Given the description of an element on the screen output the (x, y) to click on. 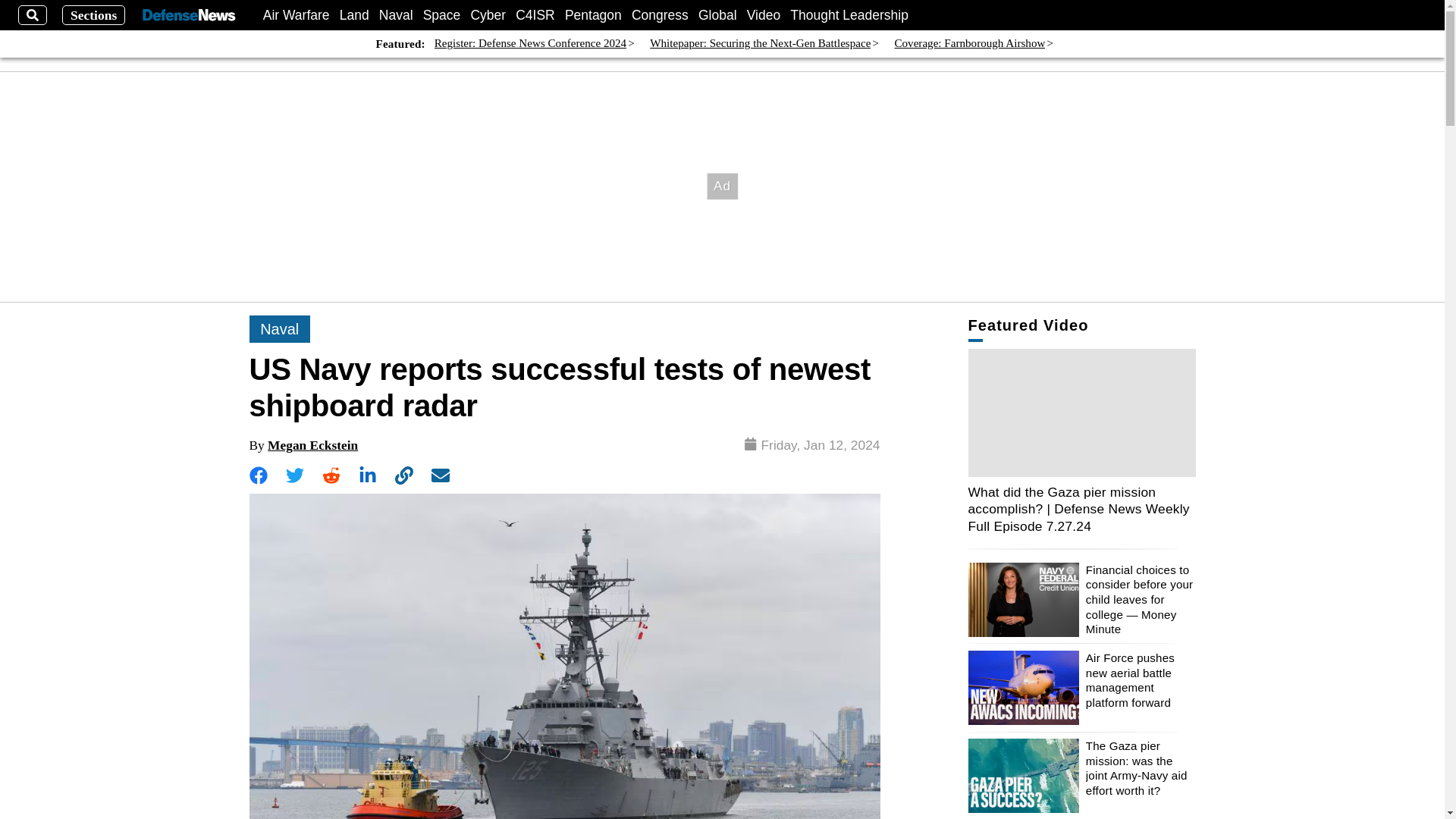
Land (354, 14)
Air Warfare (296, 14)
Sections (93, 14)
Space (442, 14)
Global (717, 14)
Congress (659, 14)
Thought Leadership (849, 14)
Naval (395, 14)
Pentagon (592, 14)
Defense News Logo (188, 14)
Video (763, 14)
